Given the description of an element on the screen output the (x, y) to click on. 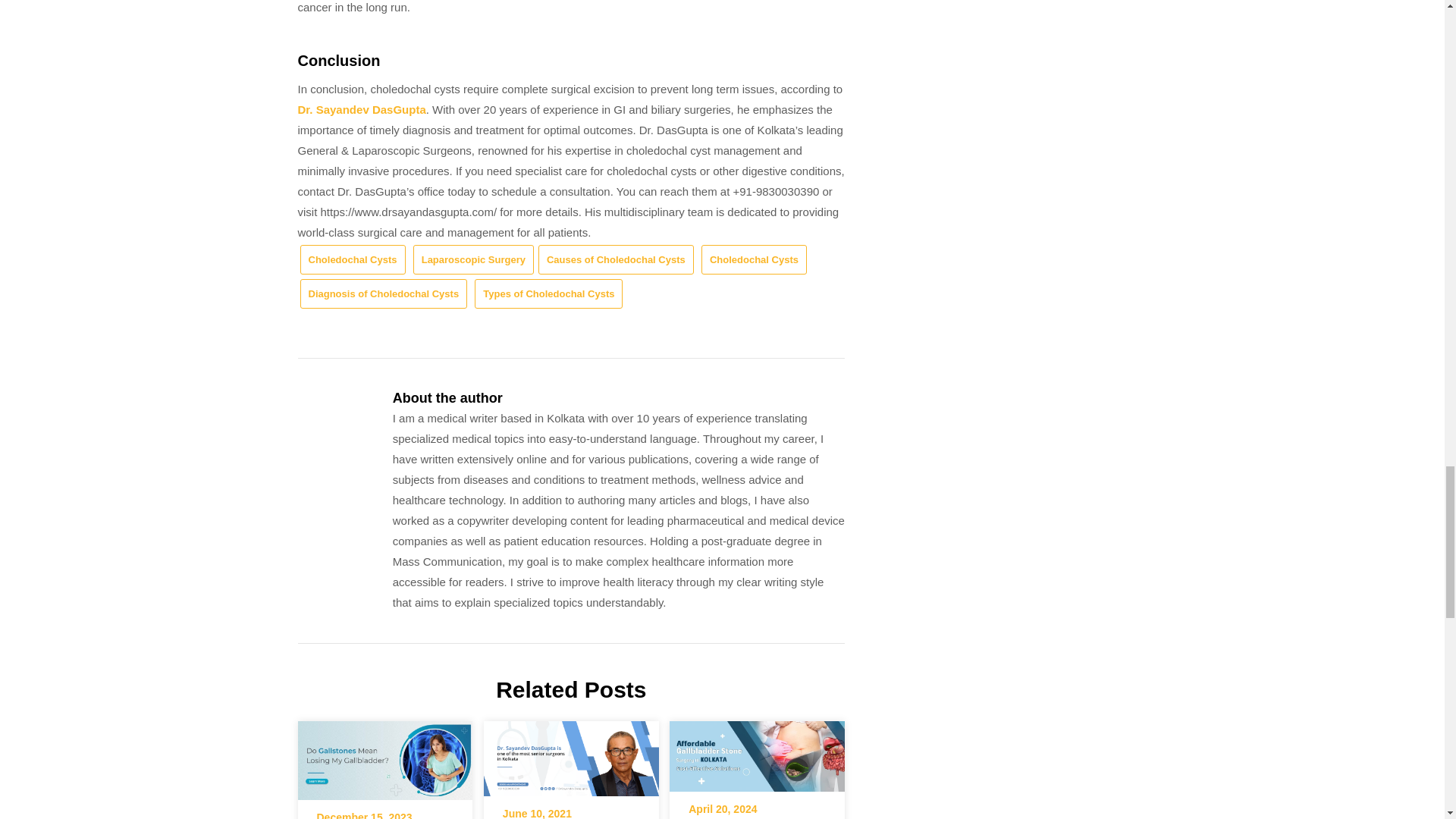
Do Gallstones Mean Losing My Gallbladder? (384, 755)
Gall Bladder Stone Surgery in Kolkata: A Comprehensive Guide (756, 751)
